Given the description of an element on the screen output the (x, y) to click on. 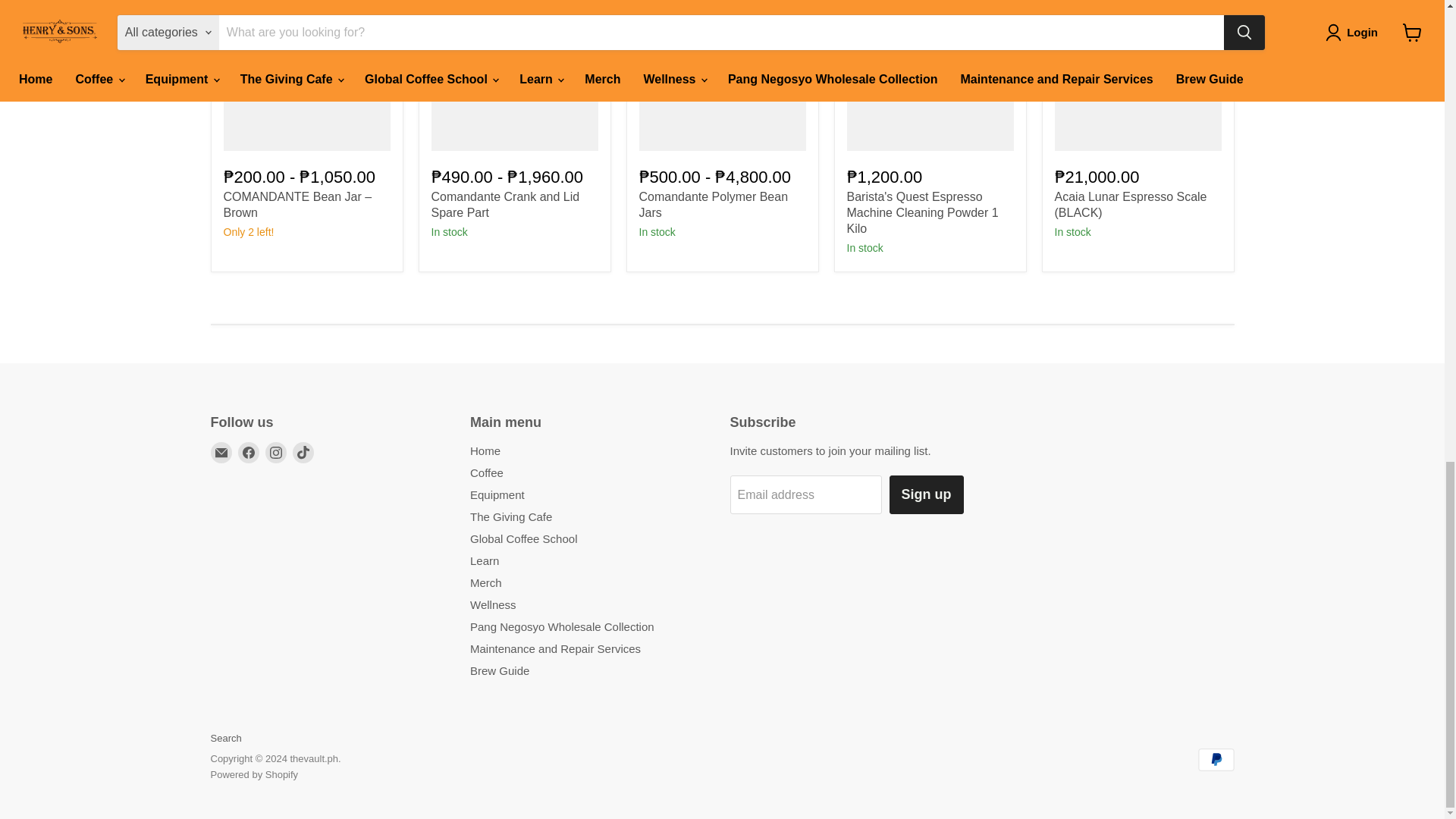
Facebook (248, 452)
Instagram (275, 452)
Email (221, 452)
TikTok (303, 452)
